Given the description of an element on the screen output the (x, y) to click on. 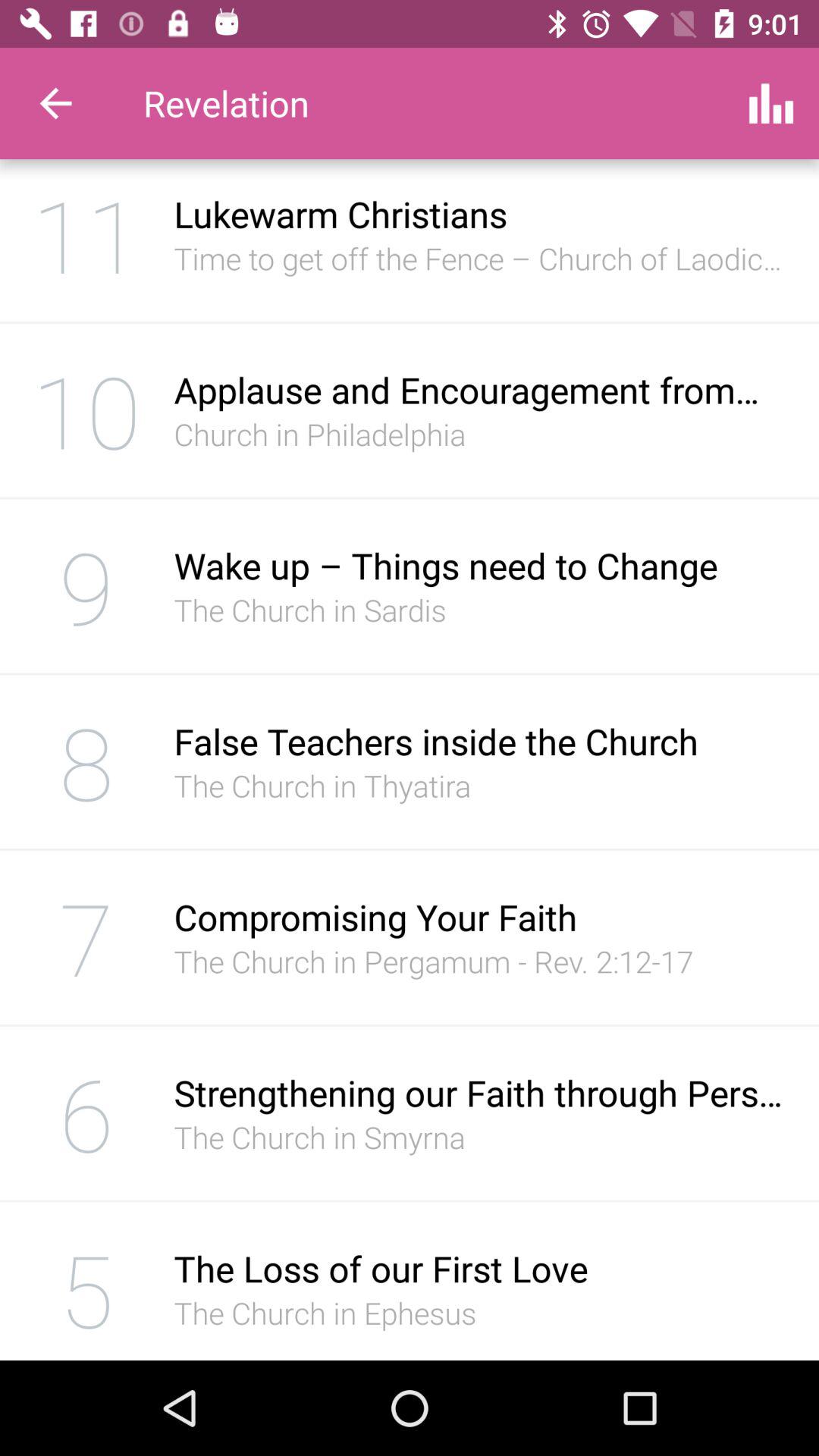
open item at the top right corner (771, 103)
